Given the description of an element on the screen output the (x, y) to click on. 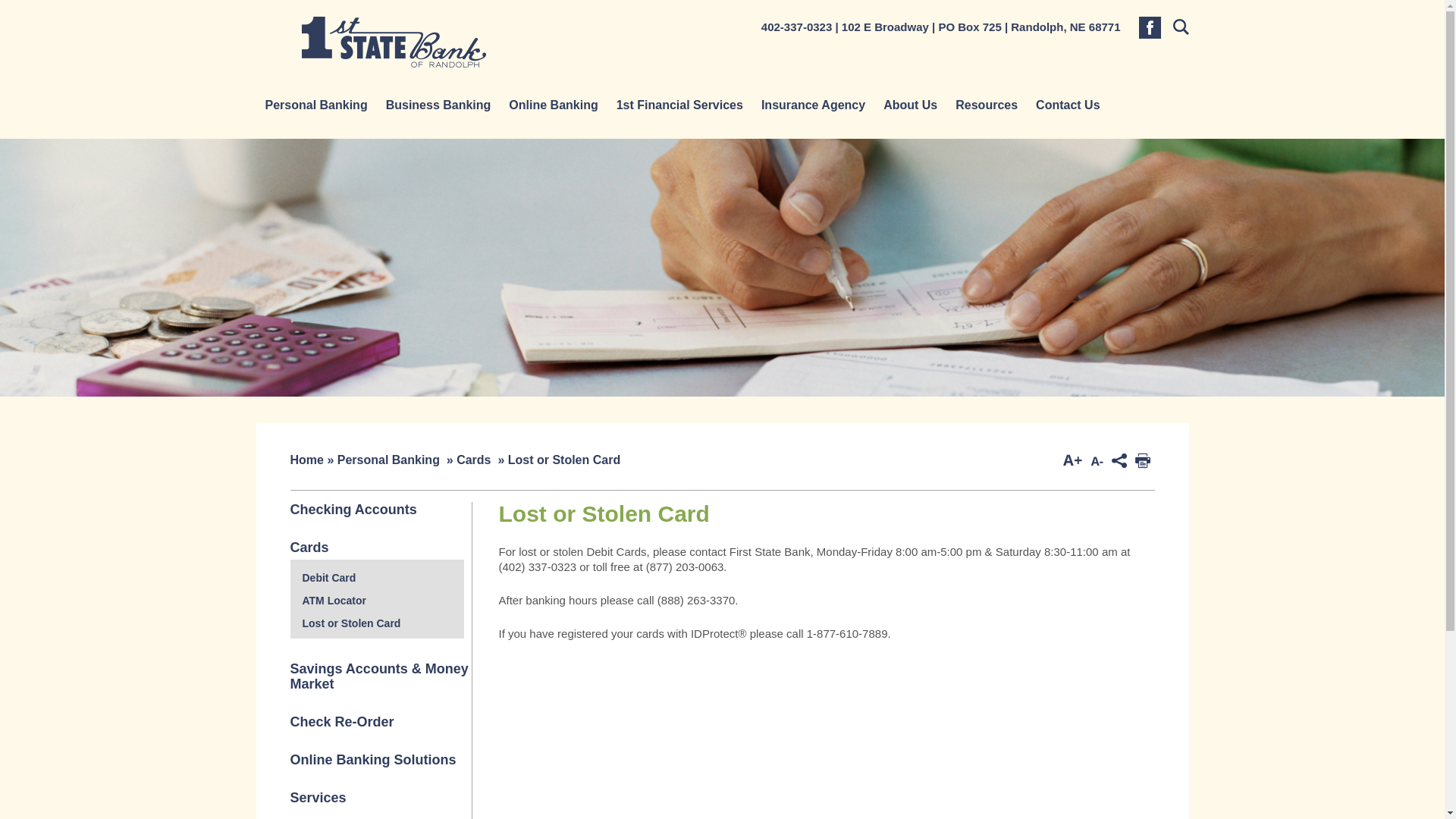
Increase Font Size Element type: hover (1072, 460)
1st State Bank Element type: text (393, 41)
Cards Element type: text (308, 547)
Cards Element type: text (473, 459)
Insurance Agency Element type: text (813, 104)
Personal Banking Element type: text (388, 459)
ATM Locator Element type: text (333, 600)
Savings Accounts & Money Market Element type: text (378, 676)
Checking Accounts Element type: text (352, 509)
Business Banking Element type: text (438, 104)
Decrease Font Size Element type: hover (1096, 460)
Online Banking Element type: text (552, 104)
Services Element type: text (317, 797)
Lost or Stolen Card Element type: text (564, 459)
Personal Banking Element type: text (316, 104)
402-337-0323 Element type: text (796, 26)
ShareThis Element type: hover (1118, 460)
About Us Element type: text (910, 104)
1st Financial Services Element type: text (679, 104)
Contact Us Element type: text (1067, 104)
Debit Card Element type: text (328, 577)
Check Re-Order Element type: text (341, 721)
Online Banking Solutions Element type: text (372, 759)
Lost or Stolen Card Element type: text (350, 623)
Home Element type: text (306, 459)
Resources Element type: text (986, 104)
